Given the description of an element on the screen output the (x, y) to click on. 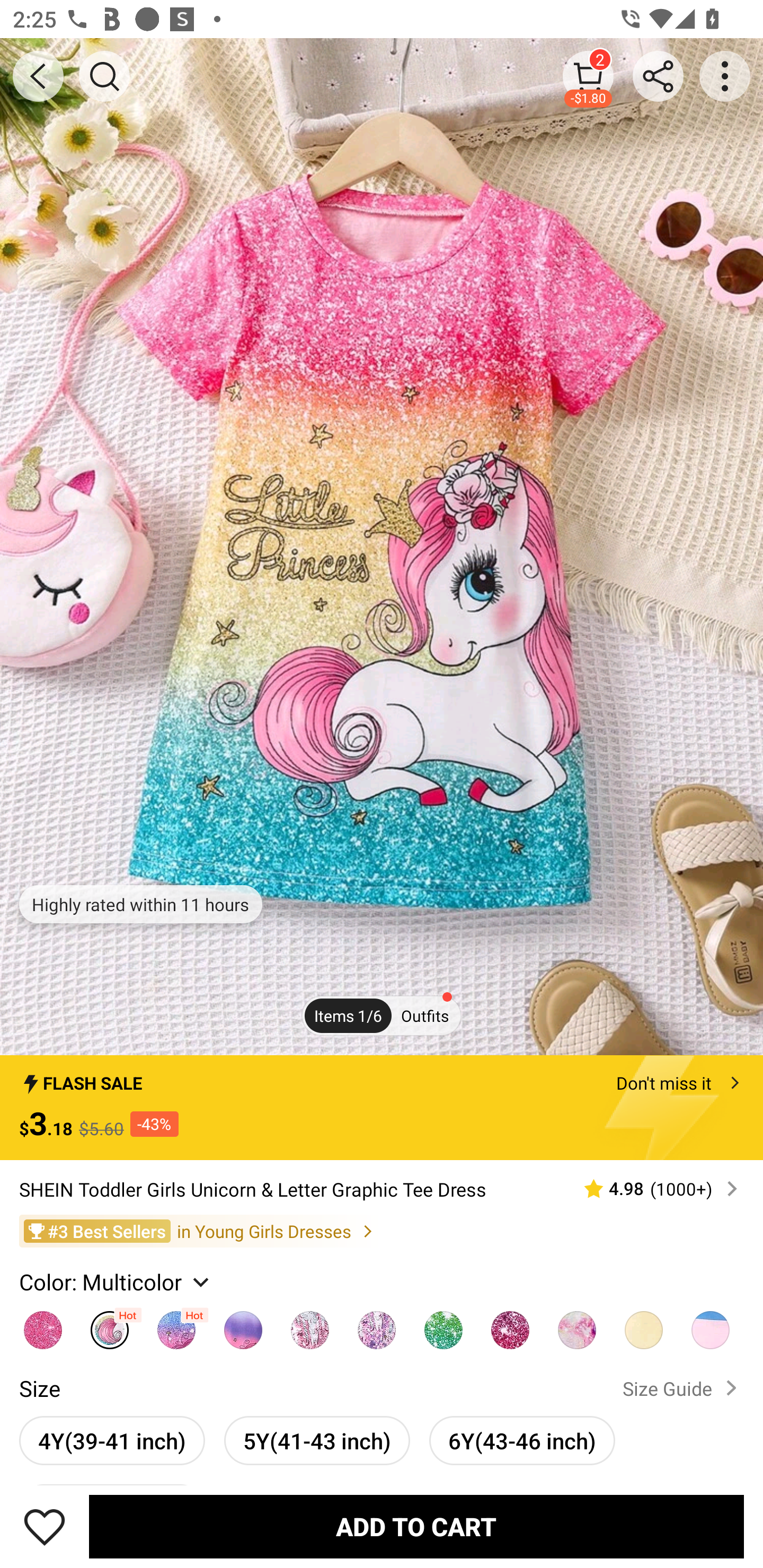
BACK (38, 75)
2 -$1.80 (588, 75)
Items 1/6 (347, 1015)
Outfits (424, 1015)
FLASH SALE Don't miss it $3.18 $5.60 -43% (381, 1107)
FLASH SALE Don't miss it (381, 1077)
4.98 (1000‎+) (653, 1188)
#3 Best Sellers in Young Girls Dresses (381, 1231)
Color: Multicolor (116, 1281)
Pink (42, 1325)
Multicolor (109, 1325)
Multicolor (176, 1325)
Multicolor (242, 1325)
Multicolor (309, 1325)
Multicolor (376, 1325)
Multicolor (443, 1325)
Multicolor (509, 1325)
Multicolor (576, 1325)
Multicolor (643, 1325)
Multicolor (710, 1325)
Size (39, 1388)
Size Guide (682, 1388)
4Y(39-41 inch) 4Y(39-41 inch)unselected option (112, 1439)
5Y(41-43 inch) 5Y(41-43 inch)unselected option (317, 1439)
6Y(43-46 inch) 6Y(43-46 inch)unselected option (521, 1439)
ADD TO CART (416, 1526)
Save (44, 1526)
